Given the description of an element on the screen output the (x, y) to click on. 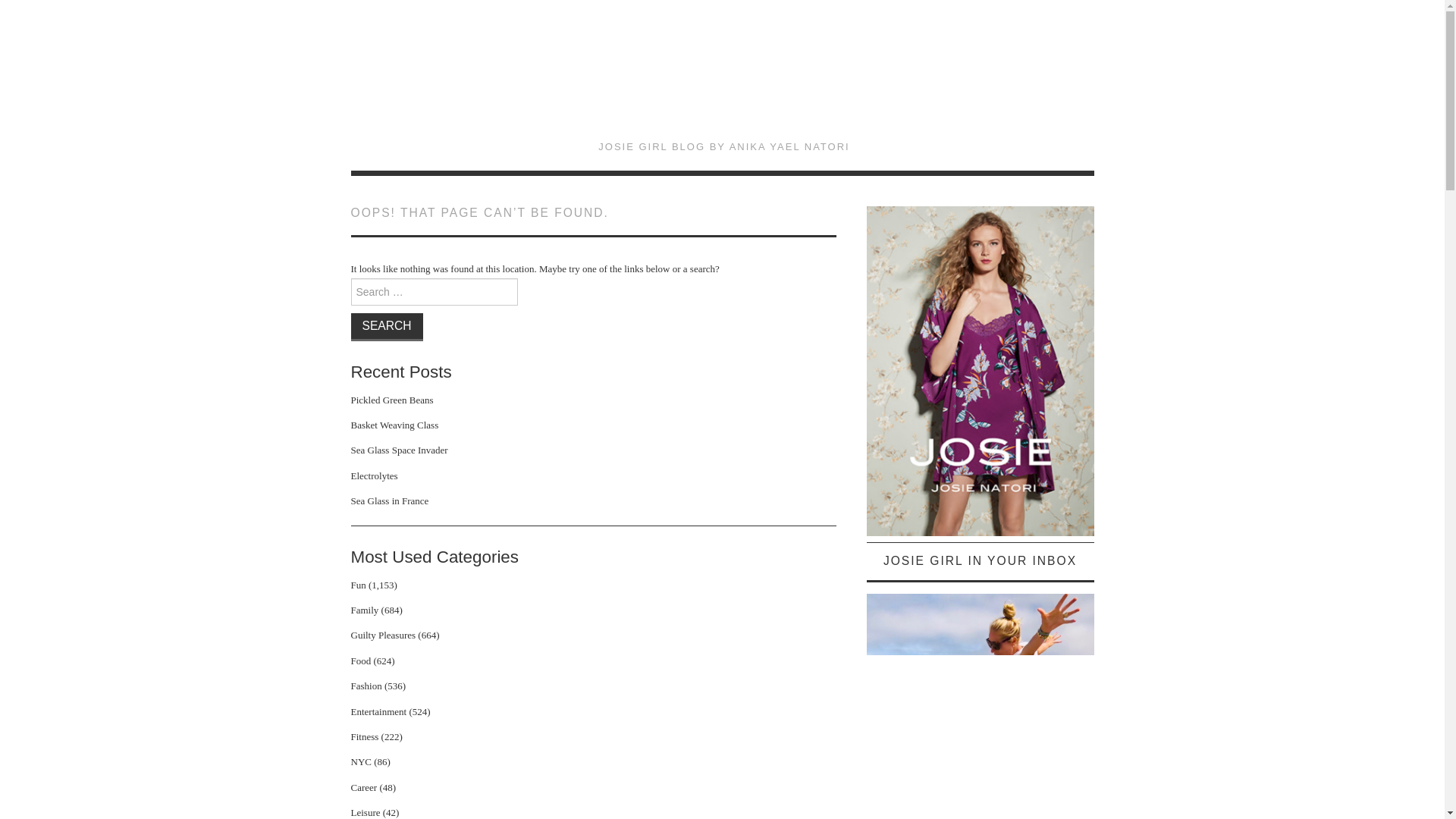
Sea Glass in France (389, 500)
Electrolytes (373, 475)
NYC (360, 761)
Search for: (433, 290)
Career (363, 787)
Fun (357, 584)
Sea Glass Space Invader (398, 449)
Basket Weaving Class (394, 424)
Josie Girl Blog (722, 80)
Food (360, 660)
Family (364, 609)
Fitness (364, 736)
Pickled Green Beans (391, 399)
Search (386, 326)
Leisure (365, 812)
